Given the description of an element on the screen output the (x, y) to click on. 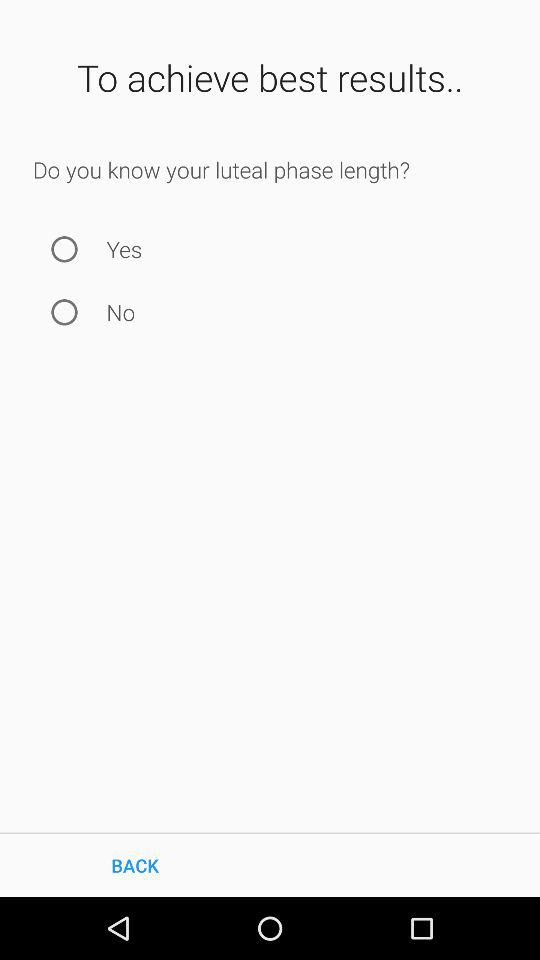
answer question (64, 311)
